Given the description of an element on the screen output the (x, y) to click on. 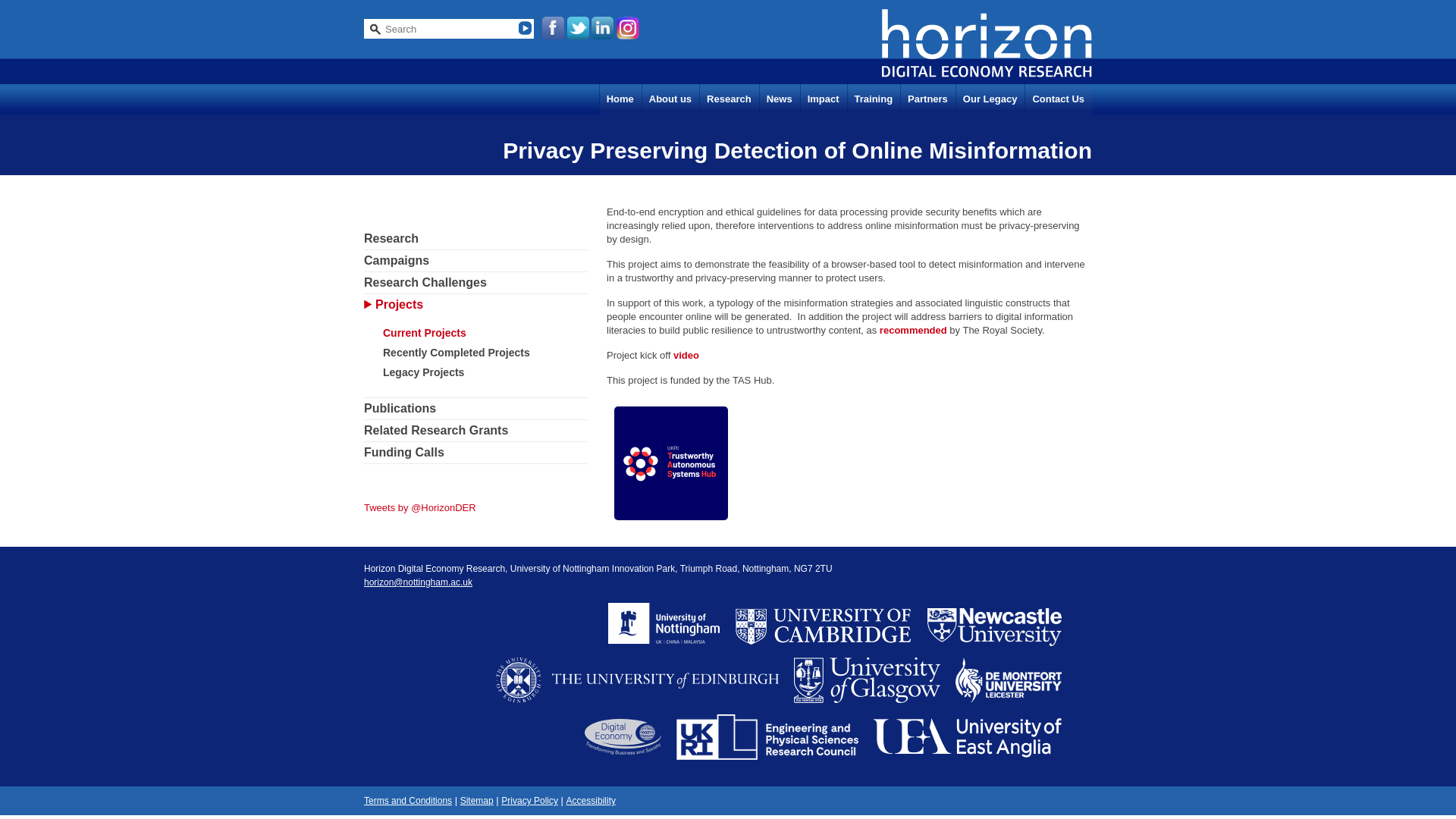
Please enter a search term in this box (440, 28)
Research (728, 99)
Home (620, 99)
About us (670, 99)
News (778, 99)
Impact (823, 99)
